Given the description of an element on the screen output the (x, y) to click on. 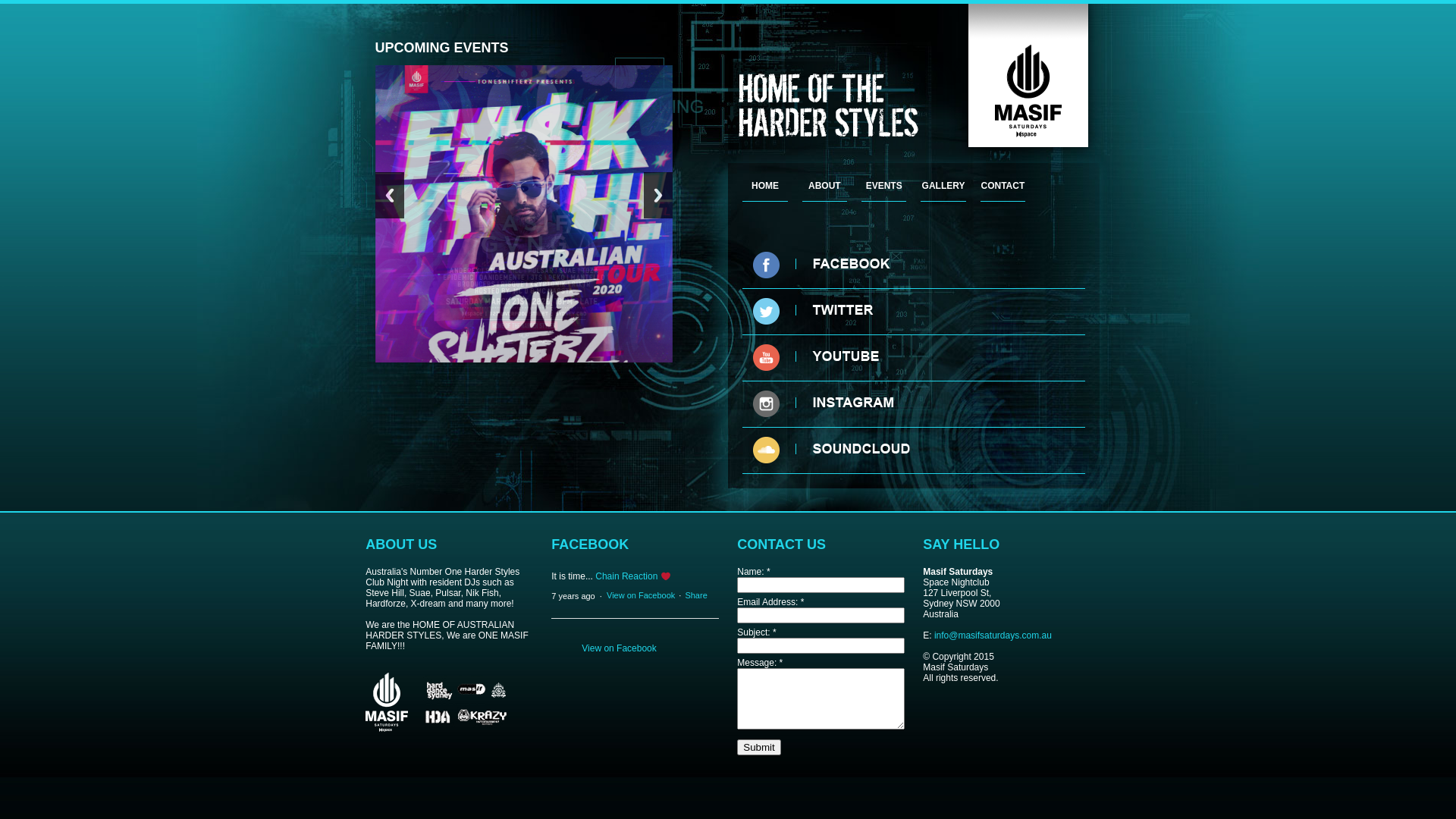
EVENTS Element type: text (883, 185)
info@masifsaturdays.com.au Element type: text (992, 635)
View on Facebook Element type: text (618, 680)
ABOUT Element type: text (824, 185)
Back Element type: text (388, 255)
Submit Element type: text (758, 747)
Chain Reaction Element type: text (626, 609)
Share Element type: text (695, 627)
View on Facebook Element type: text (640, 627)
CONTACT Element type: text (1003, 185)
GALLERY Element type: text (943, 185)
Next Element type: text (657, 255)
HOME Element type: text (764, 185)
